Given the description of an element on the screen output the (x, y) to click on. 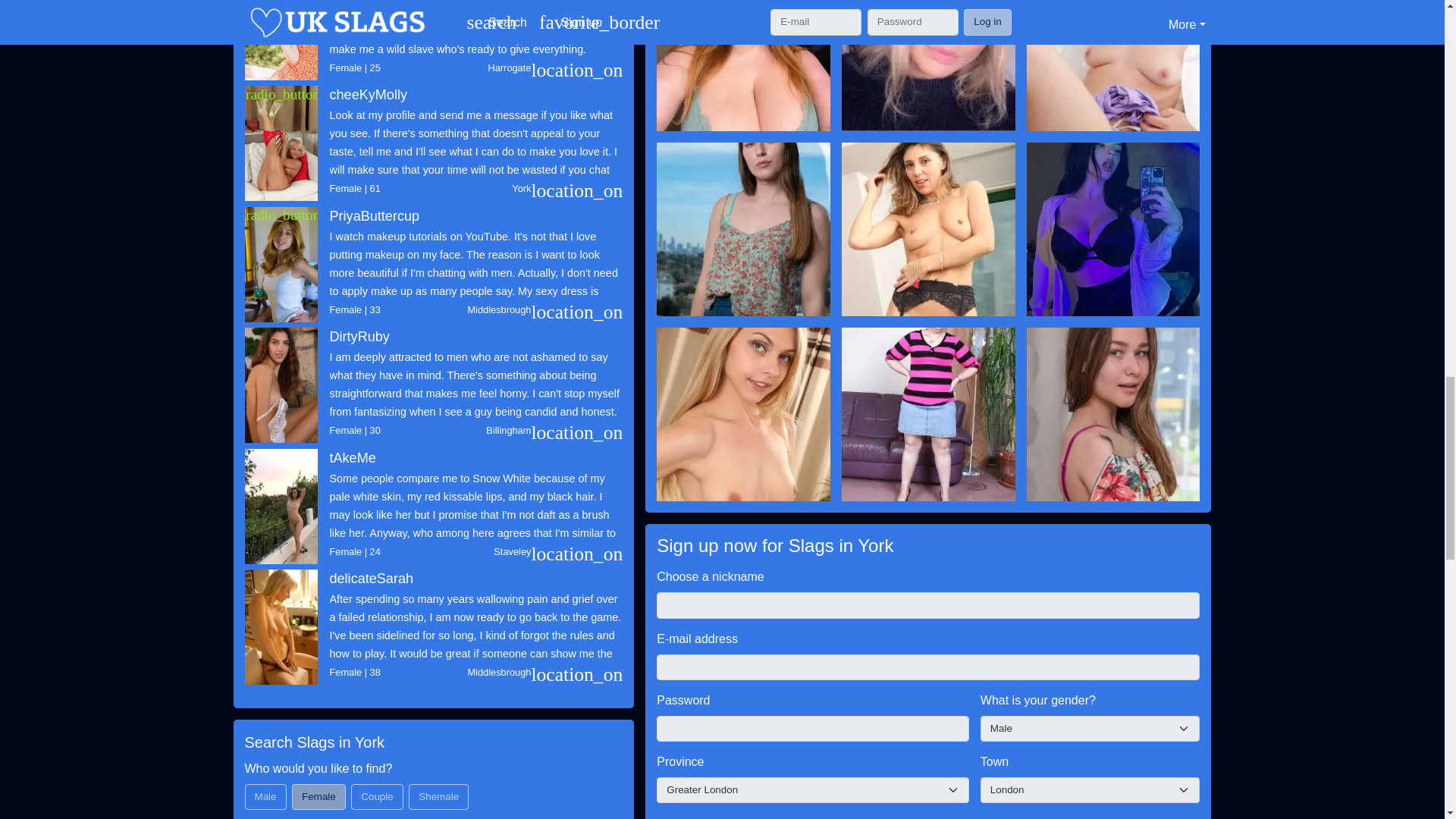
couple (355, 788)
male (248, 788)
shemale (414, 788)
female (296, 788)
